Given the description of an element on the screen output the (x, y) to click on. 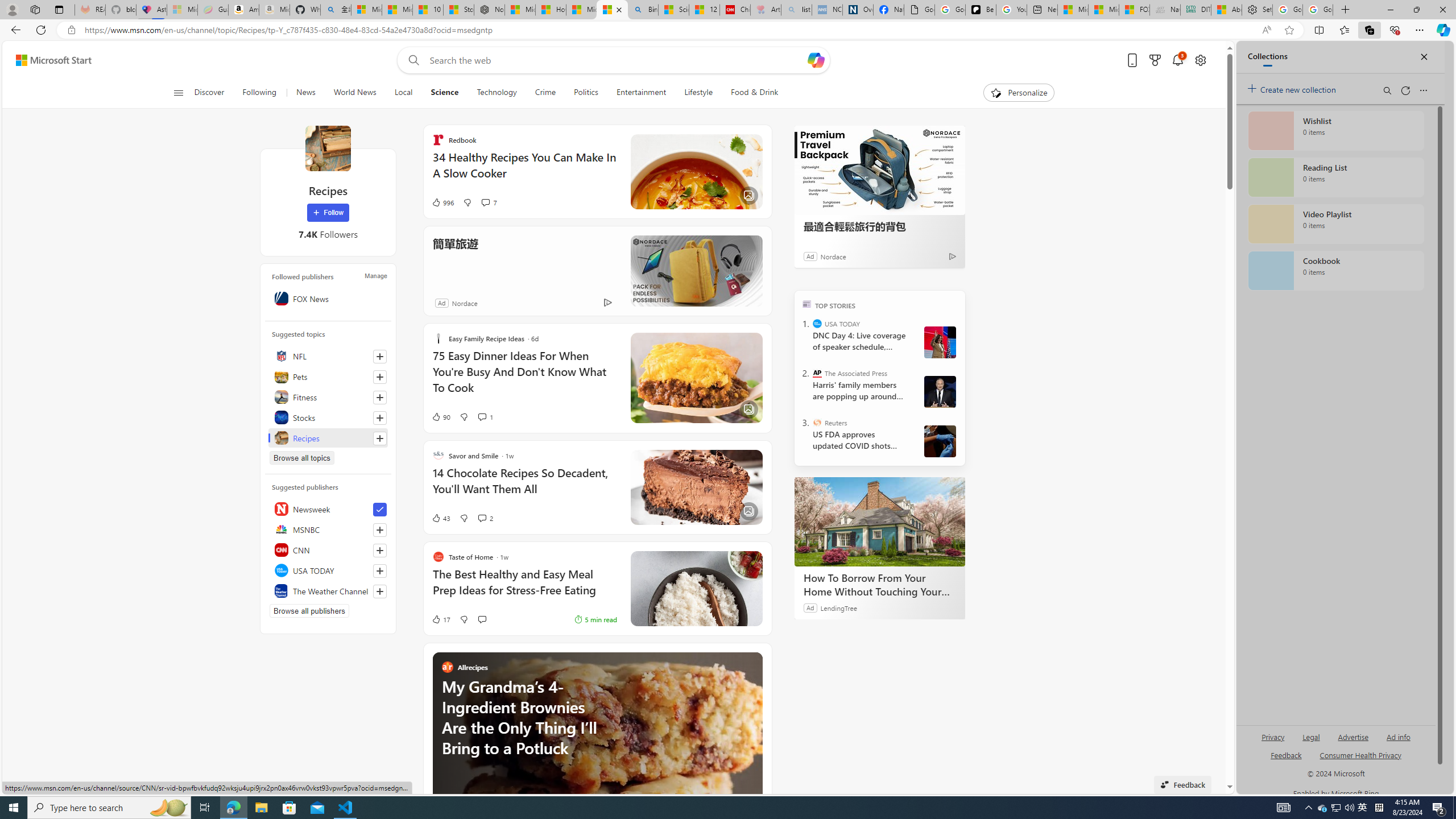
Follow this source (379, 591)
Recipes (327, 148)
US FDA approves updated COVID shots ahead of fall and winter (859, 440)
14 Chocolate Recipes So Decadent, You'll Want Them All (524, 486)
FOX News (327, 298)
Be Smart | creating Science videos | Patreon (980, 9)
Stocks (327, 417)
